Given the description of an element on the screen output the (x, y) to click on. 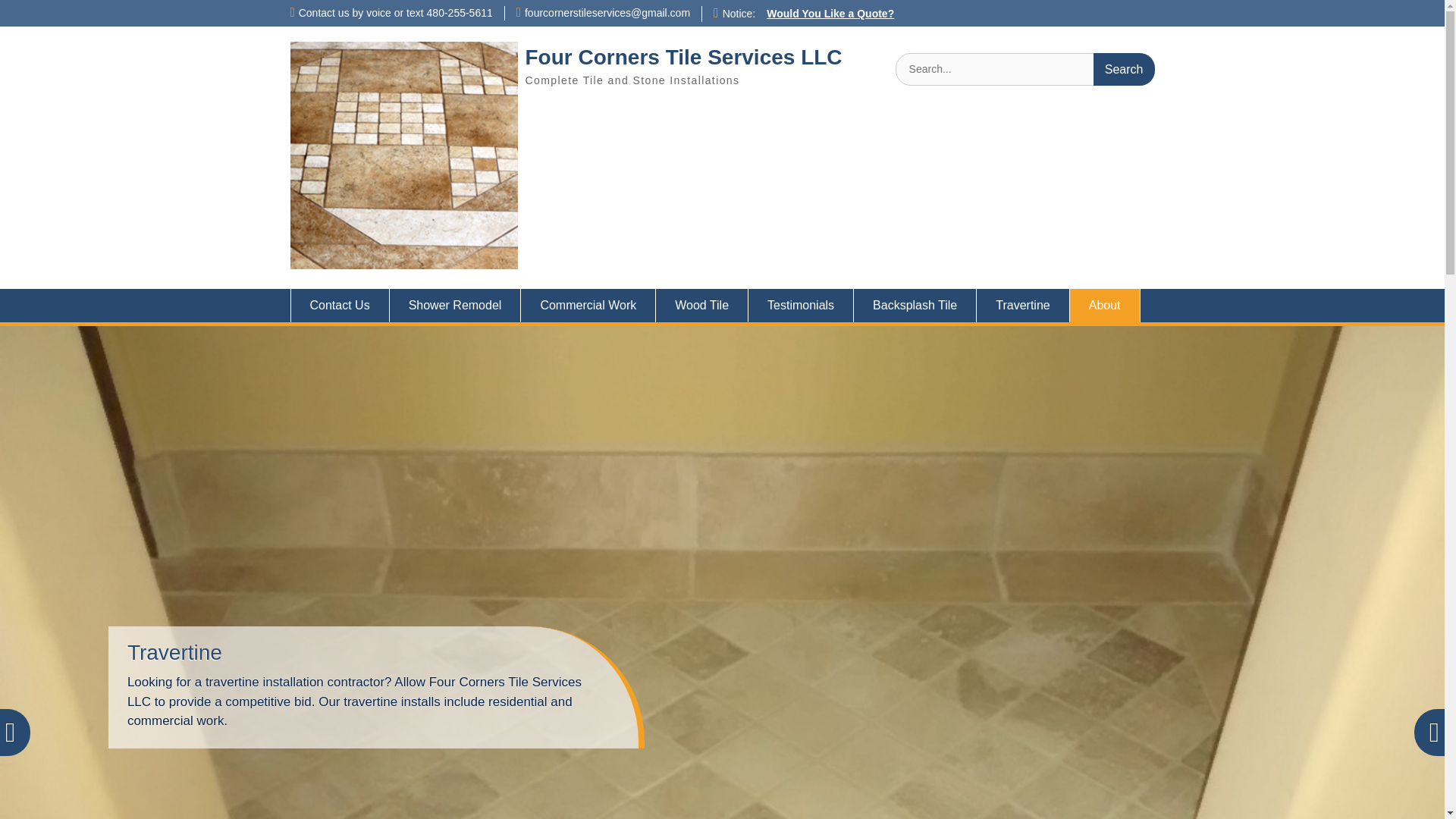
Search for: (1024, 69)
Search (1123, 69)
About (1105, 305)
Testimonials (800, 305)
Four Corners Tile Services LLC (682, 56)
Commercial Work (588, 305)
Travertine (1022, 305)
Wood Tile (702, 305)
Contact Us (338, 305)
Would You Like a Quote? (830, 13)
Contact us by voice or text 480-255-5611 (395, 12)
Backsplash Tile (914, 305)
Search (1123, 69)
Search (1123, 69)
Shower Remodel (455, 305)
